Given the description of an element on the screen output the (x, y) to click on. 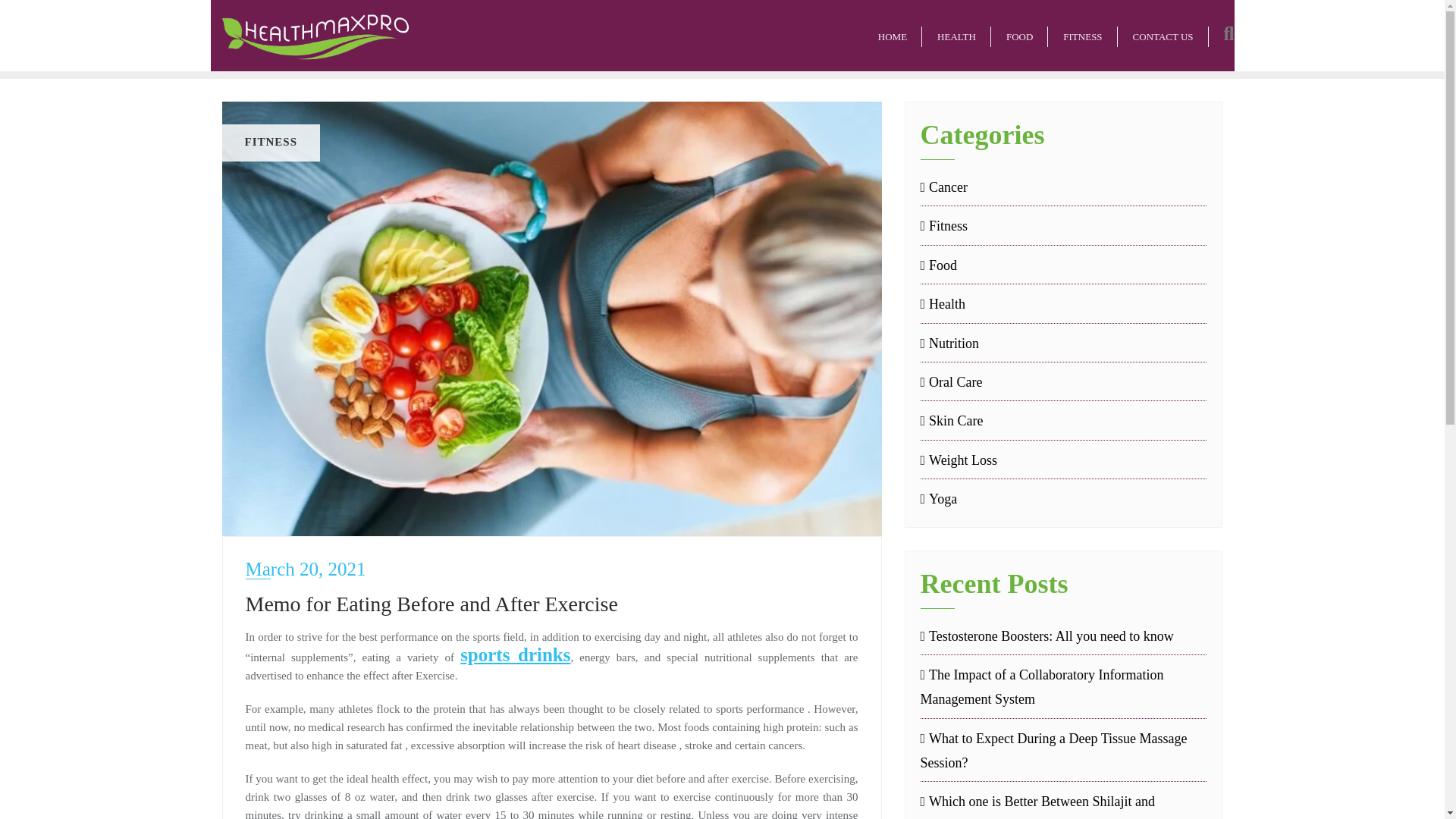
sports drinks (515, 654)
HEALTH (956, 34)
Nutrition (949, 343)
Yoga (939, 498)
Food (939, 265)
What to Expect During a Deep Tissue Massage Session? (1063, 750)
FITNESS (1082, 34)
Which one is Better Between Shilajit and Ashwagandha? (1063, 804)
The Impact of a Collaboratory Information Management System (1063, 686)
Cancer (944, 187)
March 20, 2021 (552, 568)
Weight Loss (958, 459)
FOOD (1019, 34)
CONTACT US (1163, 34)
Oral Care (951, 381)
